Given the description of an element on the screen output the (x, y) to click on. 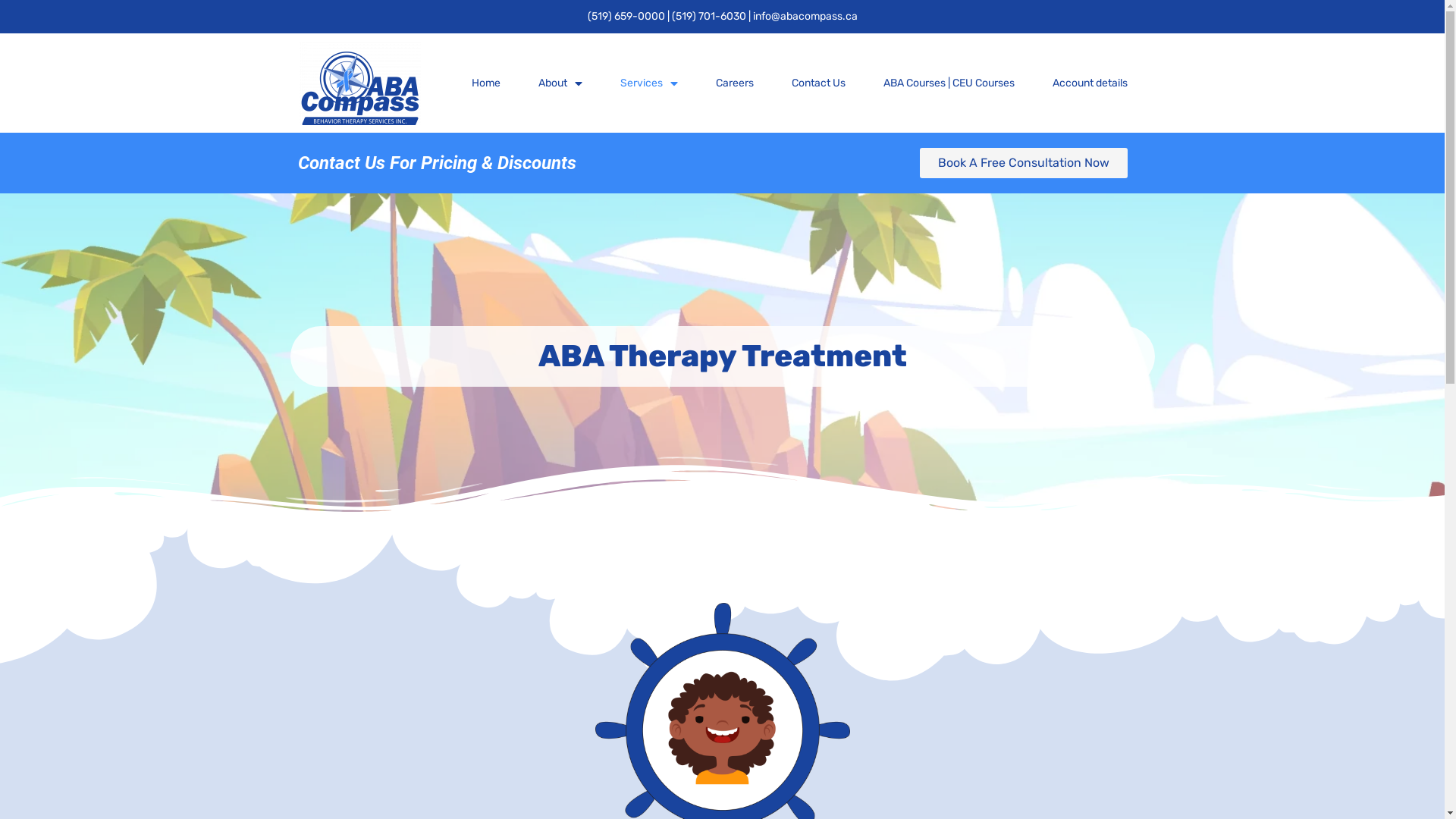
About Element type: text (560, 82)
Home Element type: text (485, 82)
(519) 701-6030 Element type: text (709, 15)
ABA Logo Final_Main Element type: hover (359, 83)
Contact Us Element type: text (818, 82)
Account details Element type: text (1089, 82)
(519) 659-0000 Element type: text (626, 15)
Services Element type: text (648, 82)
info@abacompass.ca Element type: text (804, 15)
ABA Courses | CEU Courses Element type: text (948, 82)
Careers Element type: text (734, 82)
Book A Free Consultation Now Element type: text (1023, 162)
